Given the description of an element on the screen output the (x, y) to click on. 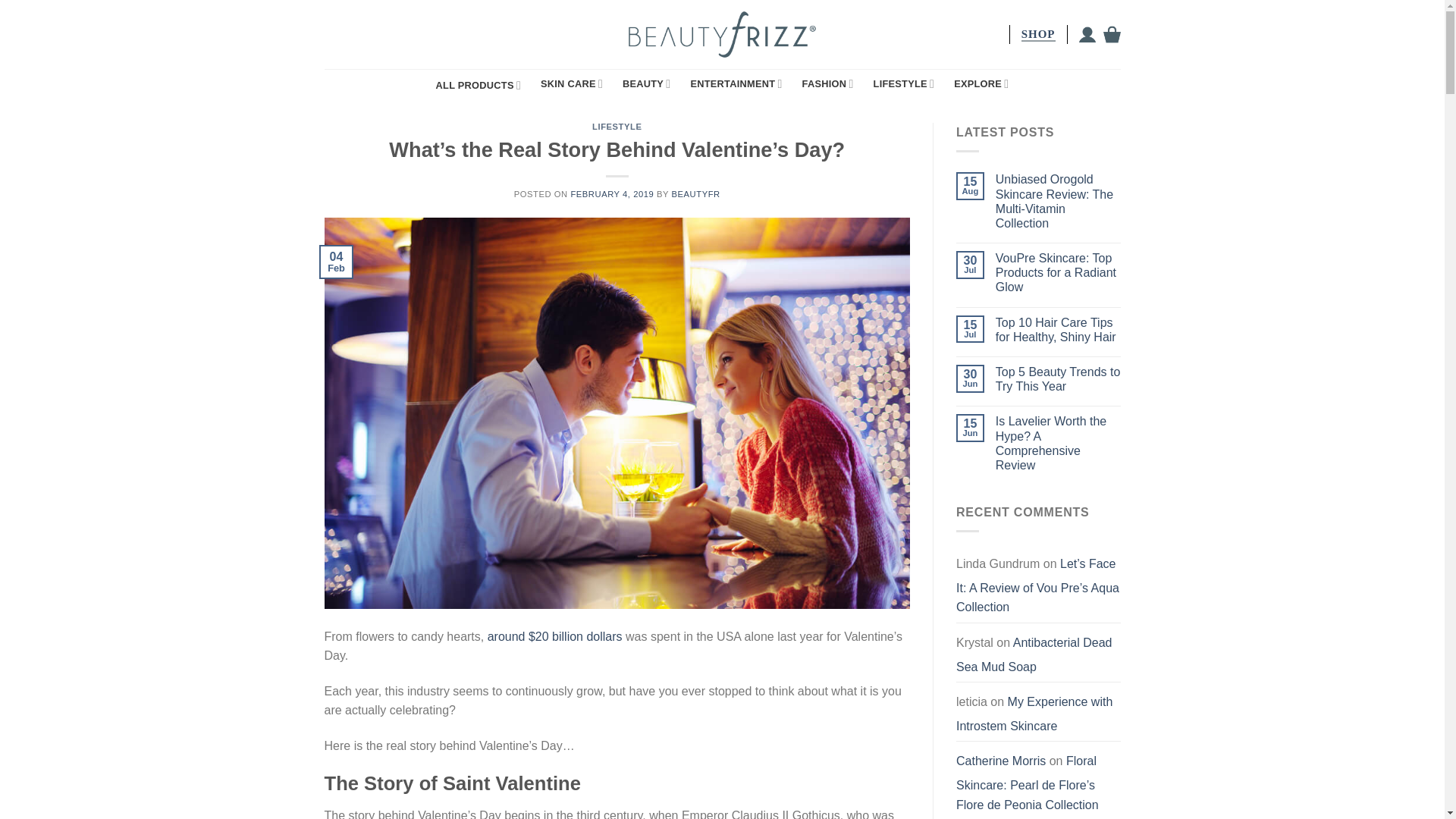
LIFESTYLE (903, 83)
BEAUTY (646, 83)
Top 5 Beauty Trends to Try This Year (1058, 378)
FASHION (827, 83)
SHOP (1038, 34)
BeautyFrizz (721, 33)
VouPre Skincare: Top Products for a Radiant Glow (1058, 272)
Is Lavelier Worth the Hype? A Comprehensive Review (1058, 443)
ENTERTAINMENT (735, 83)
